Given the description of an element on the screen output the (x, y) to click on. 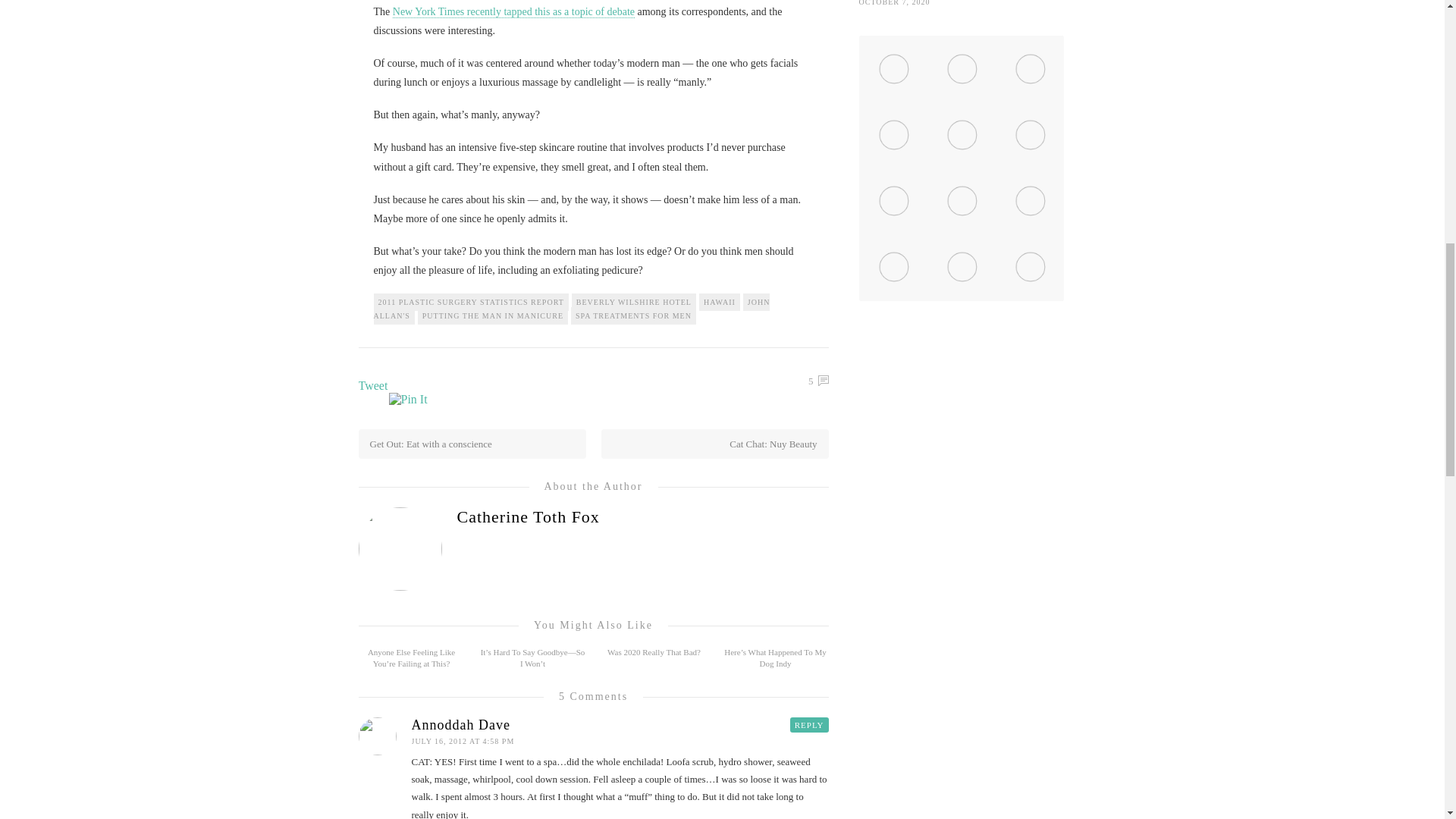
BEVERLY WILSHIRE HOTEL (633, 302)
Tweet (372, 385)
5 (818, 380)
Get Out: Eat with a conscience (428, 443)
Cat Chat: Nuy Beauty (775, 443)
SPA TREATMENTS FOR MEN (632, 315)
Permanent Link: Was 2020 Really That Bad? (653, 651)
Catherine Toth Fox (593, 516)
JOHN ALLAN'S (571, 308)
PUTTING THE MAN IN MANICURE (492, 315)
HAWAII (718, 302)
Pin It (407, 399)
New York Times recently tapped this as a topic of debate (513, 11)
REPLY (809, 724)
Posts by Catherine Toth Fox (593, 516)
